Given the description of an element on the screen output the (x, y) to click on. 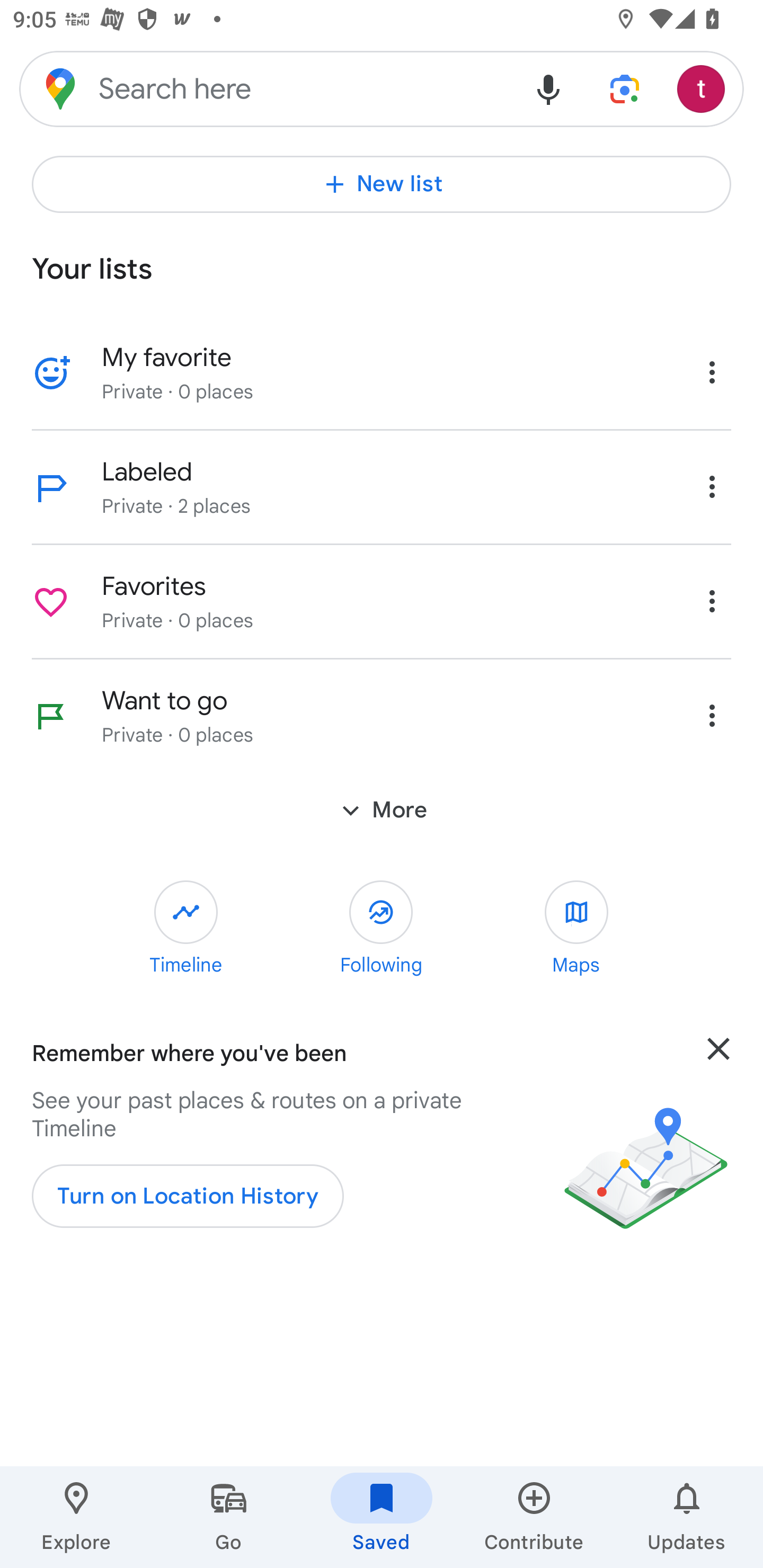
Search here (264, 88)
Voice search (548, 88)
Lens in Maps (624, 88)
New list (381, 183)
Options for My favorite (711, 371)
Edit list (51, 373)
Settings for labeled places (711, 486)
Options for Favorites (711, 600)
Edit list (51, 601)
Options for Want to go (711, 715)
Edit list (51, 716)
See more for Your Lists More (381, 810)
See Timeline See Timeline Timeline (186, 928)
See Maps See Maps Maps (576, 928)
Dismiss Location History promo (718, 1074)
Explore (76, 1517)
Go (228, 1517)
Contribute (533, 1517)
Updates (686, 1517)
